Given the description of an element on the screen output the (x, y) to click on. 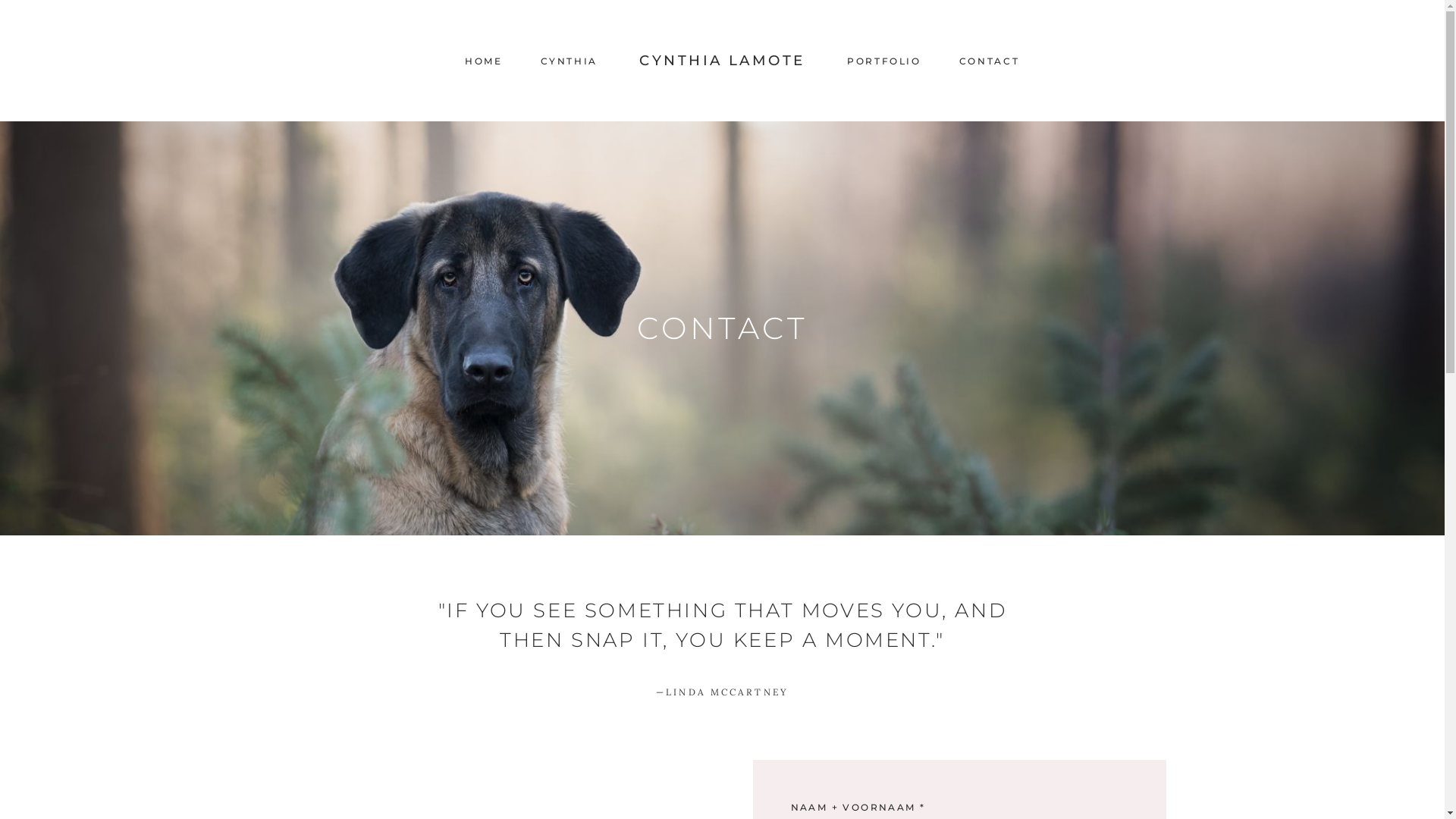
CYNTHIA Element type: text (568, 61)
PORTFOLIO Element type: text (884, 61)
HOME Element type: text (483, 61)
CONTACT Element type: text (989, 61)
CYNTHIA LAMOTE Element type: text (722, 60)
